Given the description of an element on the screen output the (x, y) to click on. 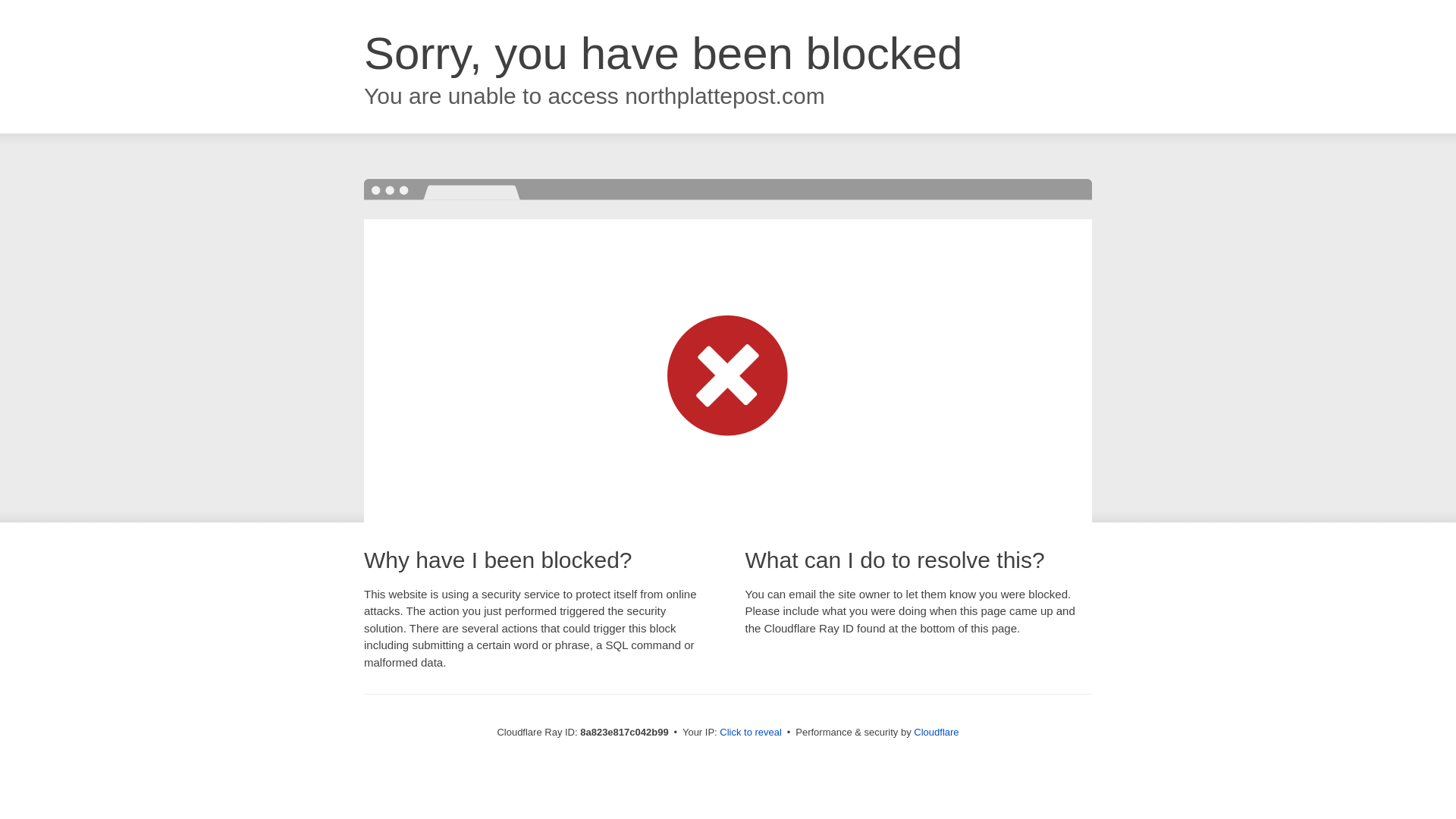
Cloudflare (936, 731)
Click to reveal (750, 732)
